Given the description of an element on the screen output the (x, y) to click on. 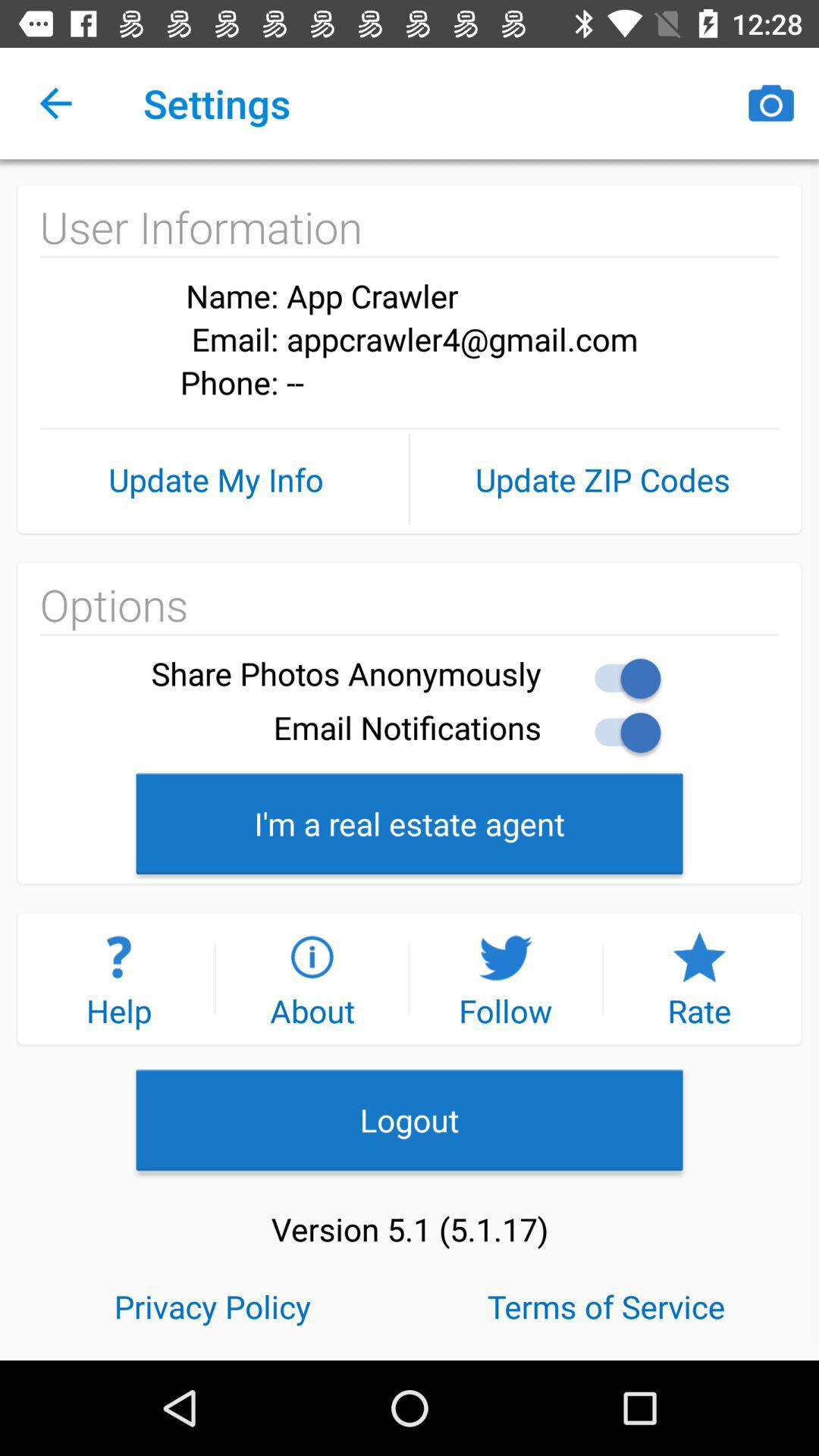
turn on icon above the logout icon (699, 978)
